Given the description of an element on the screen output the (x, y) to click on. 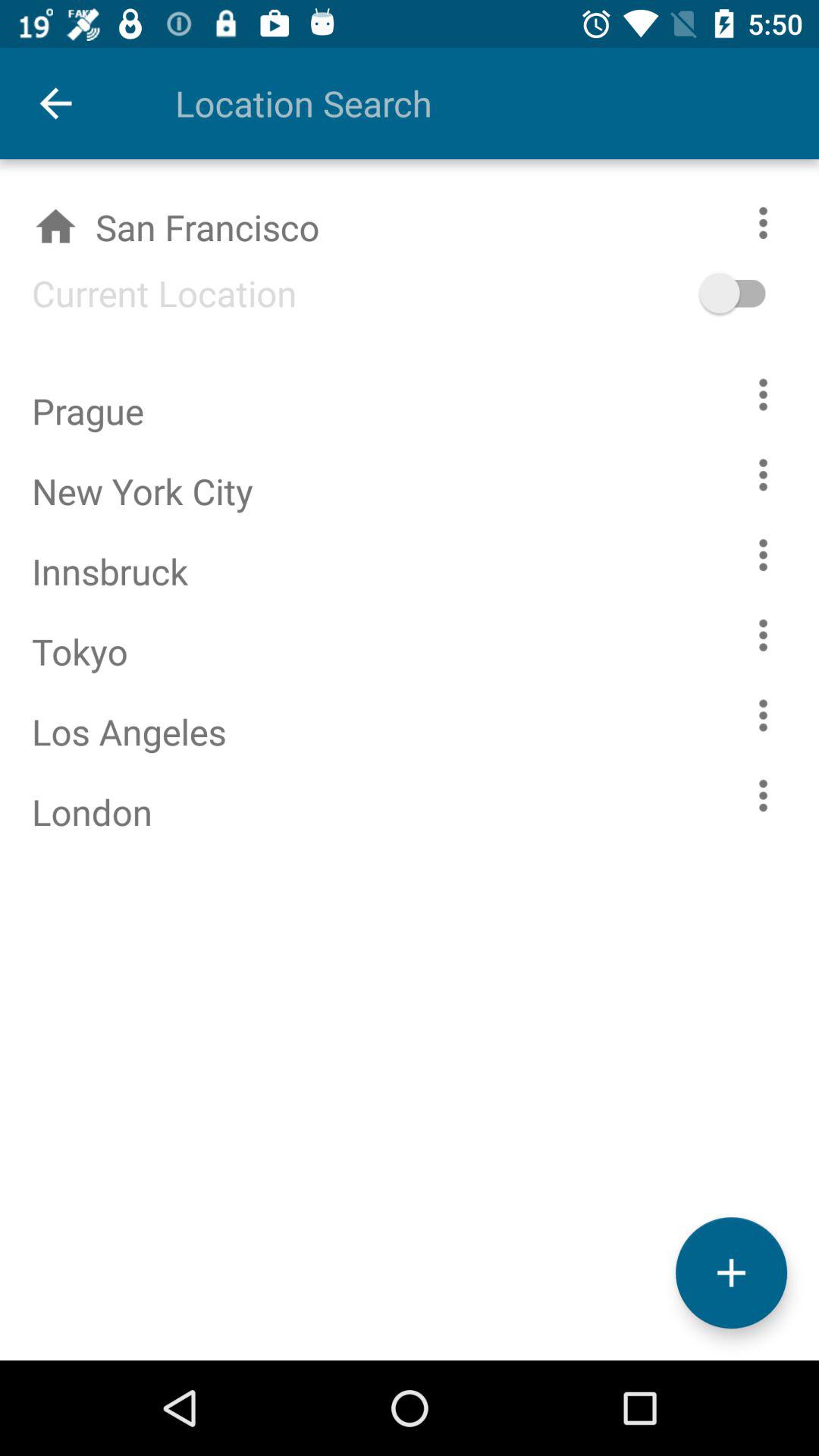
type location (464, 103)
